Given the description of an element on the screen output the (x, y) to click on. 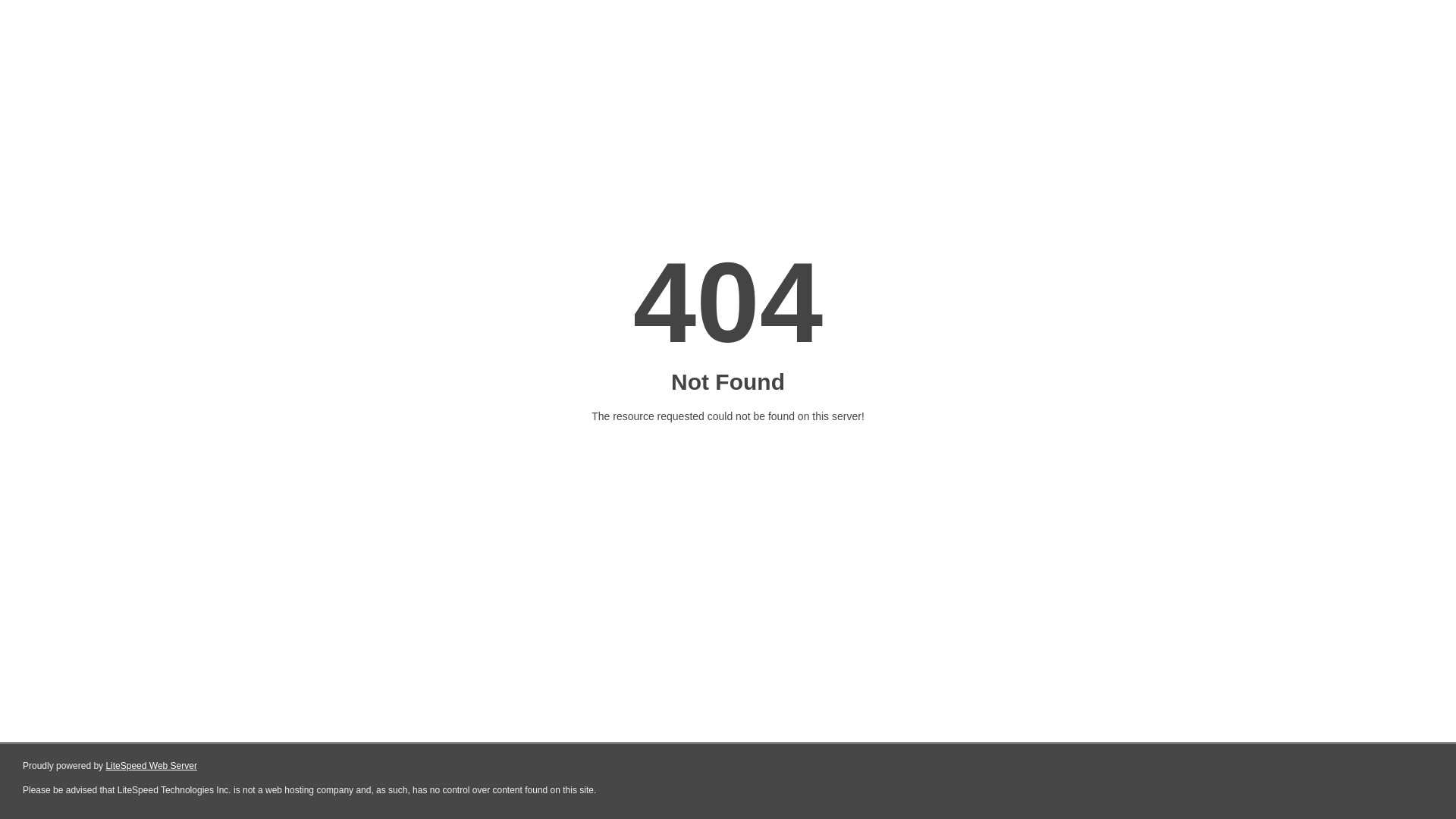
LiteSpeed Web Server Element type: text (151, 765)
